Given the description of an element on the screen output the (x, y) to click on. 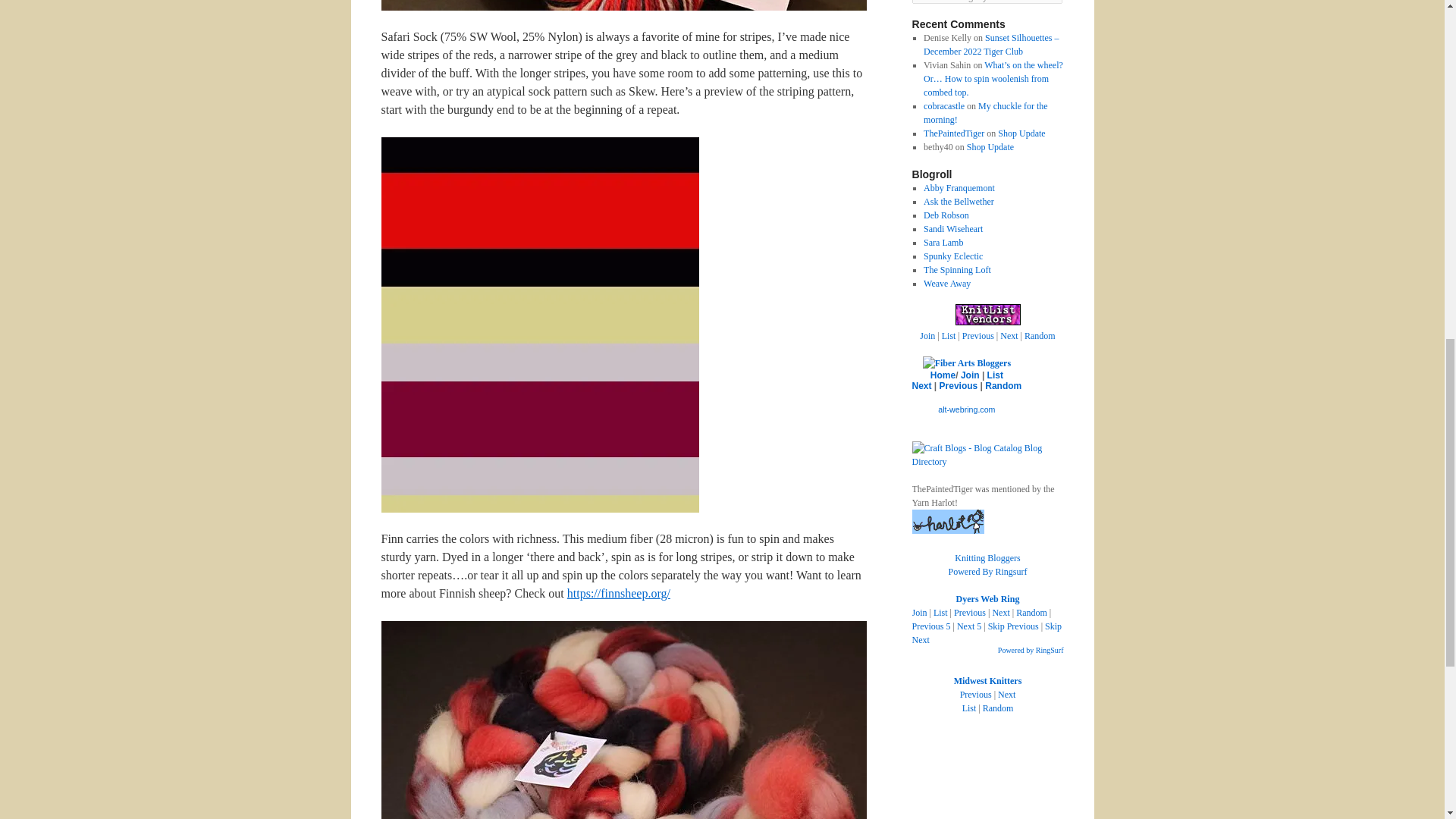
Beth is always doing something amazing. (957, 269)
Ask the Bellwether (958, 201)
View the list of sites in this ring (995, 375)
ThePaintedTiger (953, 132)
View the ring home page (942, 375)
Great source of spinning information. (958, 187)
cobracastle (943, 105)
Shop Update (989, 146)
Shop Update (1021, 132)
